Given the description of an element on the screen output the (x, y) to click on. 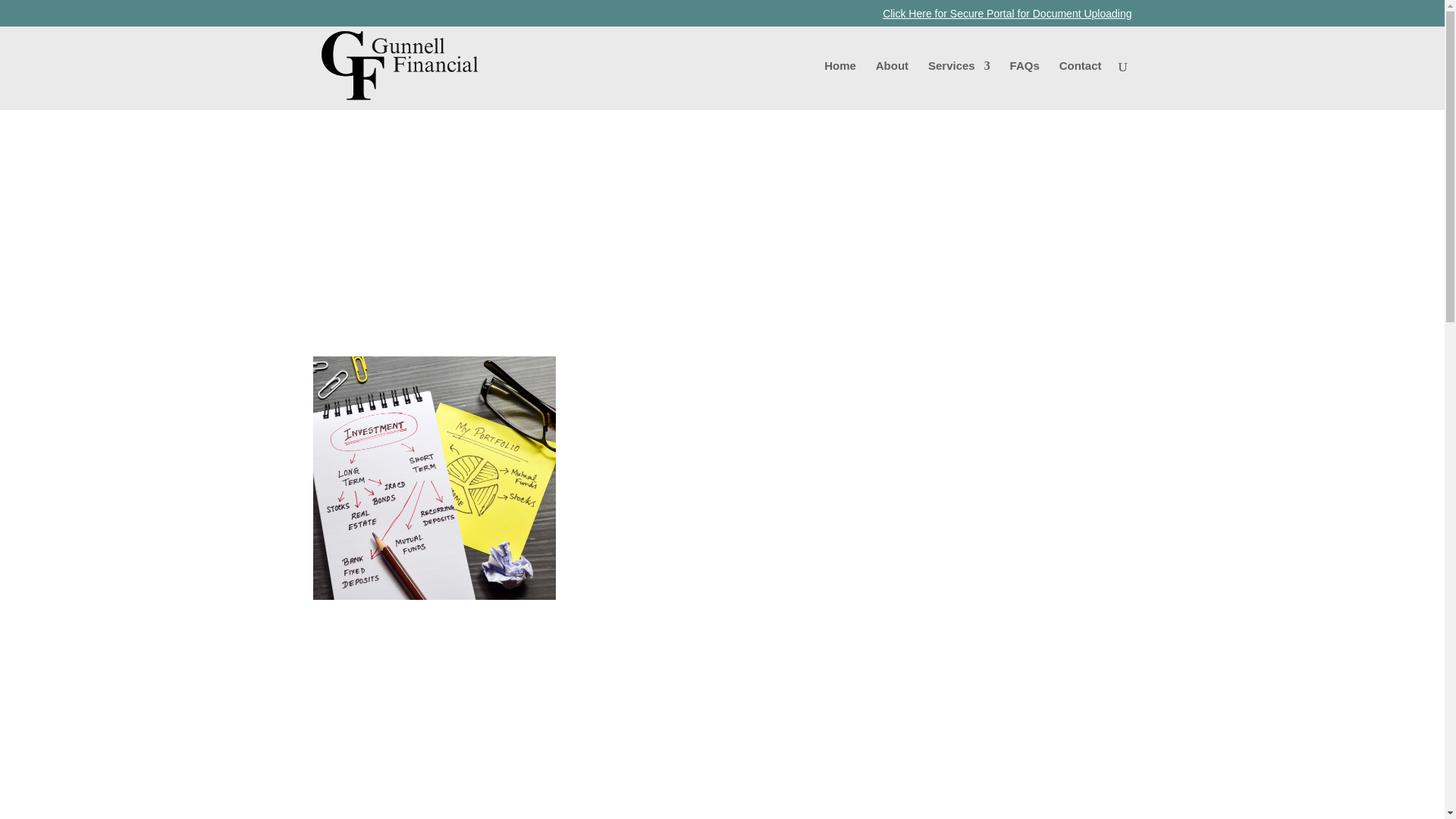
Talk With an Expert (394, 234)
Click Here for Secure Portal for Document Uploading (1006, 16)
Services (959, 84)
